Given the description of an element on the screen output the (x, y) to click on. 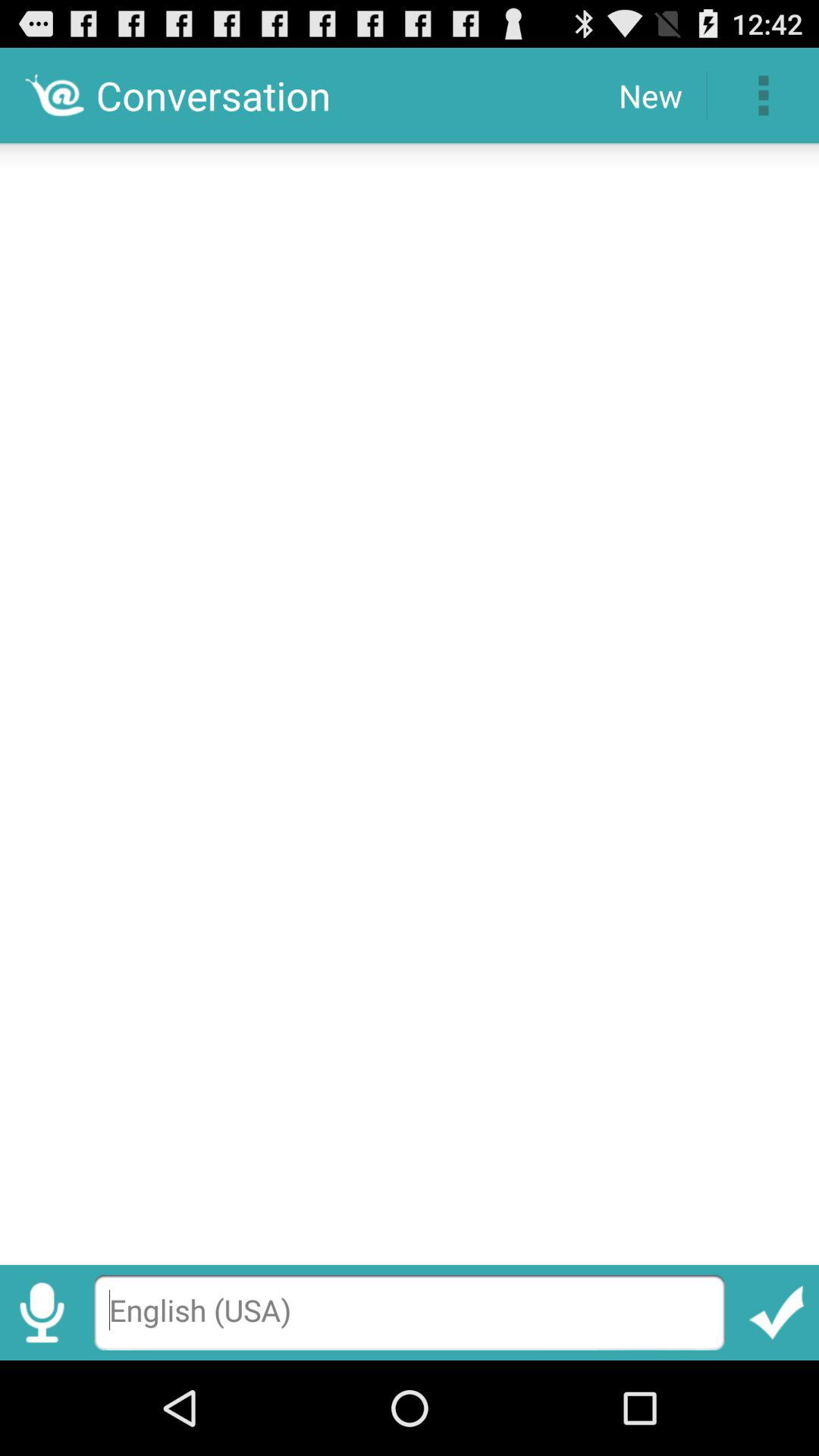
voice to text (42, 1312)
